Given the description of an element on the screen output the (x, y) to click on. 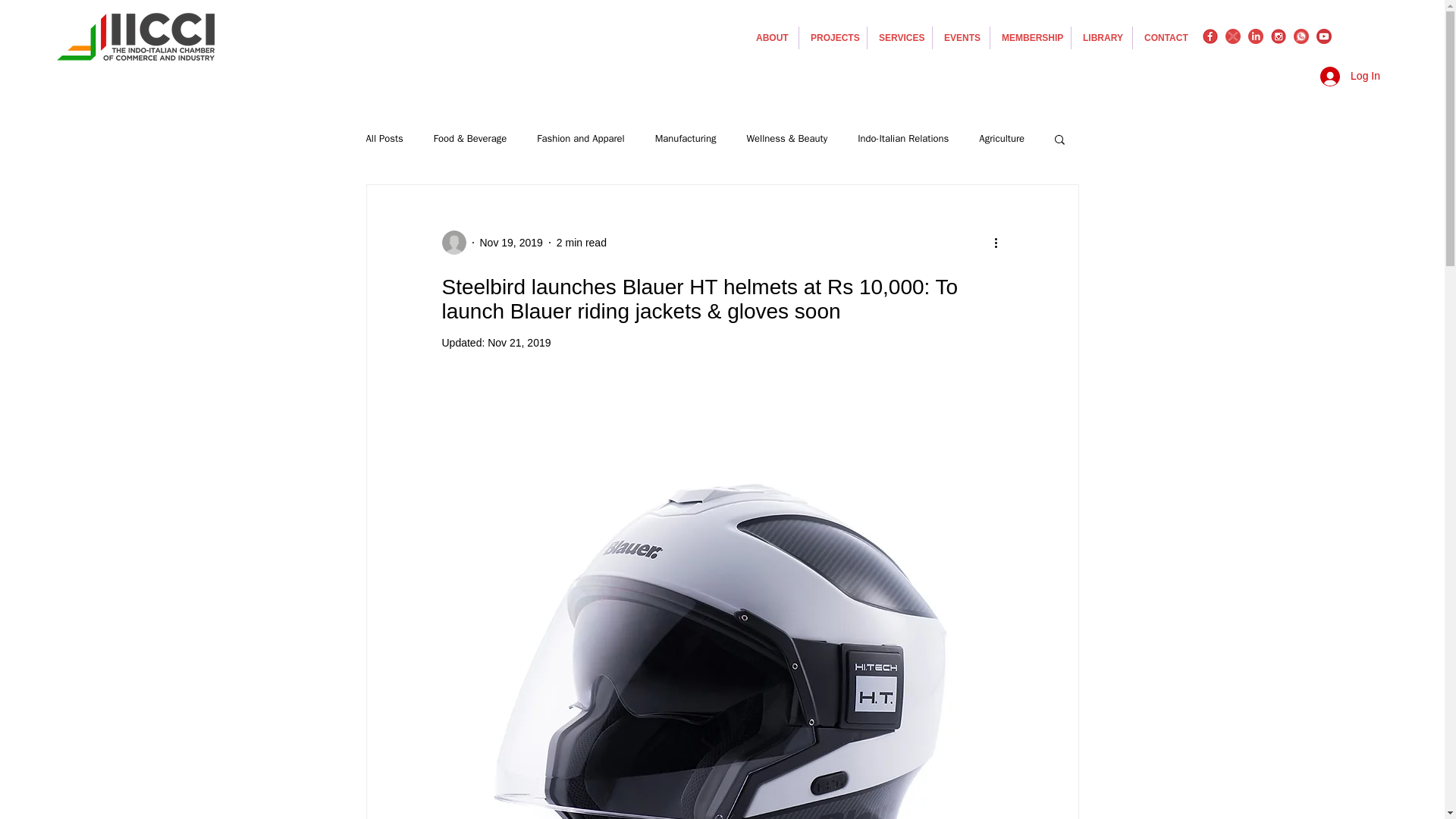
CONTACT (1164, 37)
EVENTS (961, 37)
Nov 19, 2019 (510, 242)
LIBRARY (1101, 37)
PROJECTS (832, 37)
SERVICES (899, 37)
Nov 21, 2019 (518, 342)
2 min read (581, 242)
MEMBERSHIP (1030, 37)
ABOUT (770, 37)
